Given the description of an element on the screen output the (x, y) to click on. 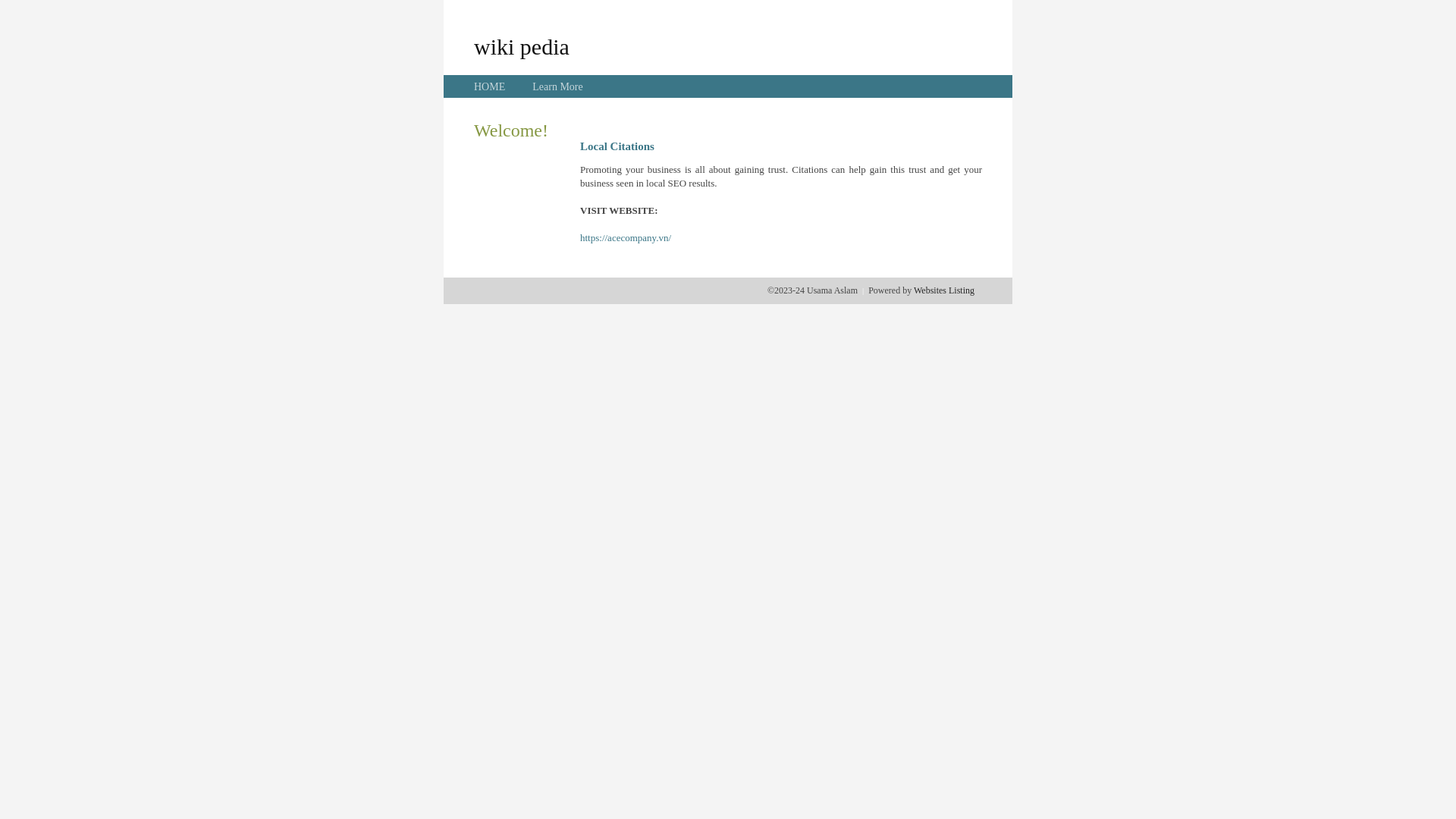
Websites Listing Element type: text (943, 290)
wiki pedia Element type: text (521, 46)
https://acecompany.vn/ Element type: text (625, 237)
Learn More Element type: text (557, 86)
HOME Element type: text (489, 86)
